Given the description of an element on the screen output the (x, y) to click on. 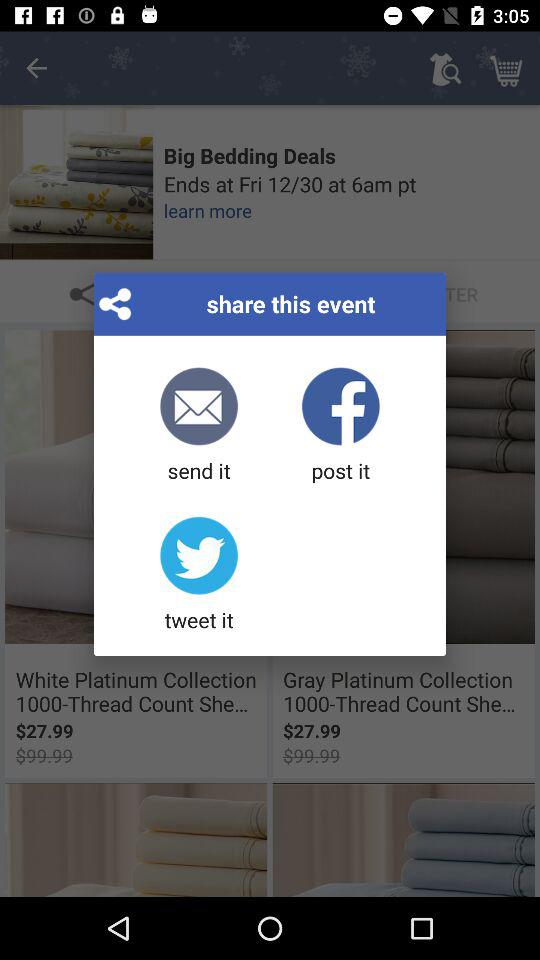
open item below share this event (198, 425)
